Given the description of an element on the screen output the (x, y) to click on. 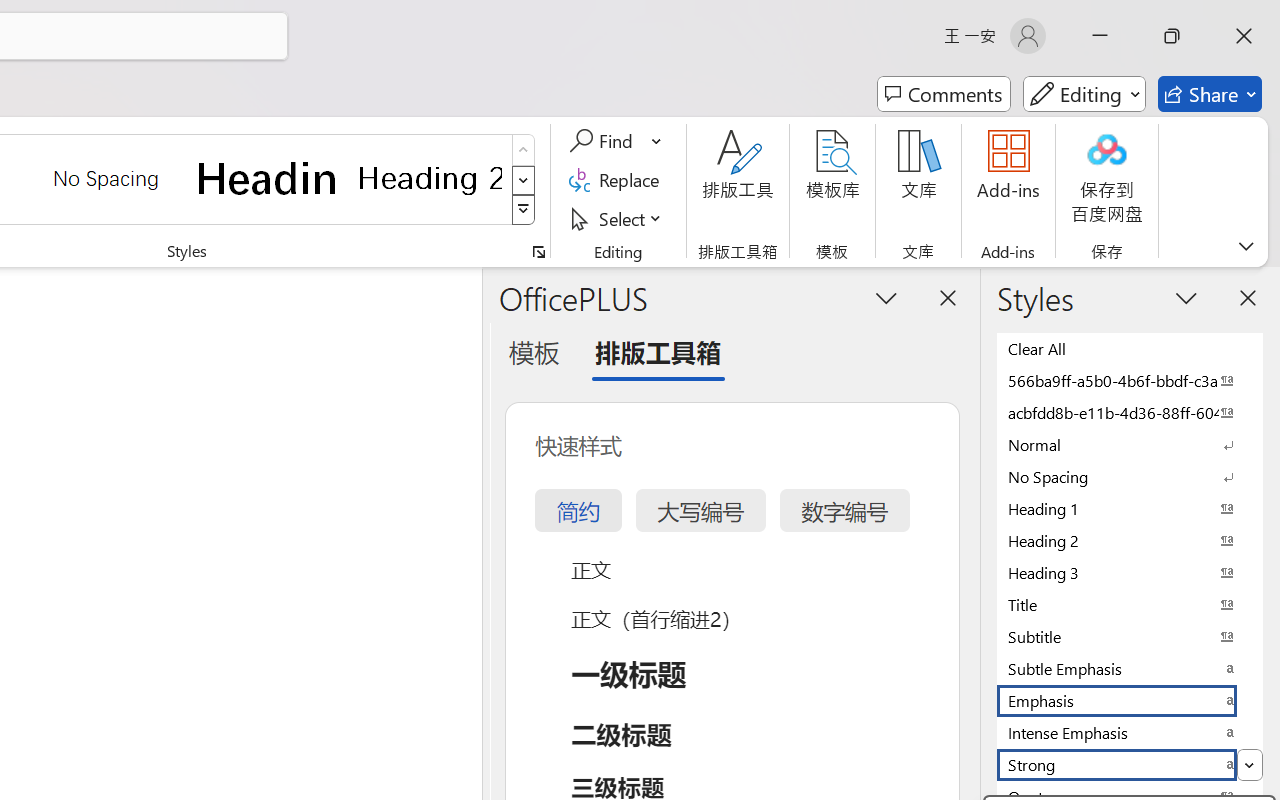
Mode (1083, 94)
Subtitle (1130, 636)
Row up (523, 150)
